Given the description of an element on the screen output the (x, y) to click on. 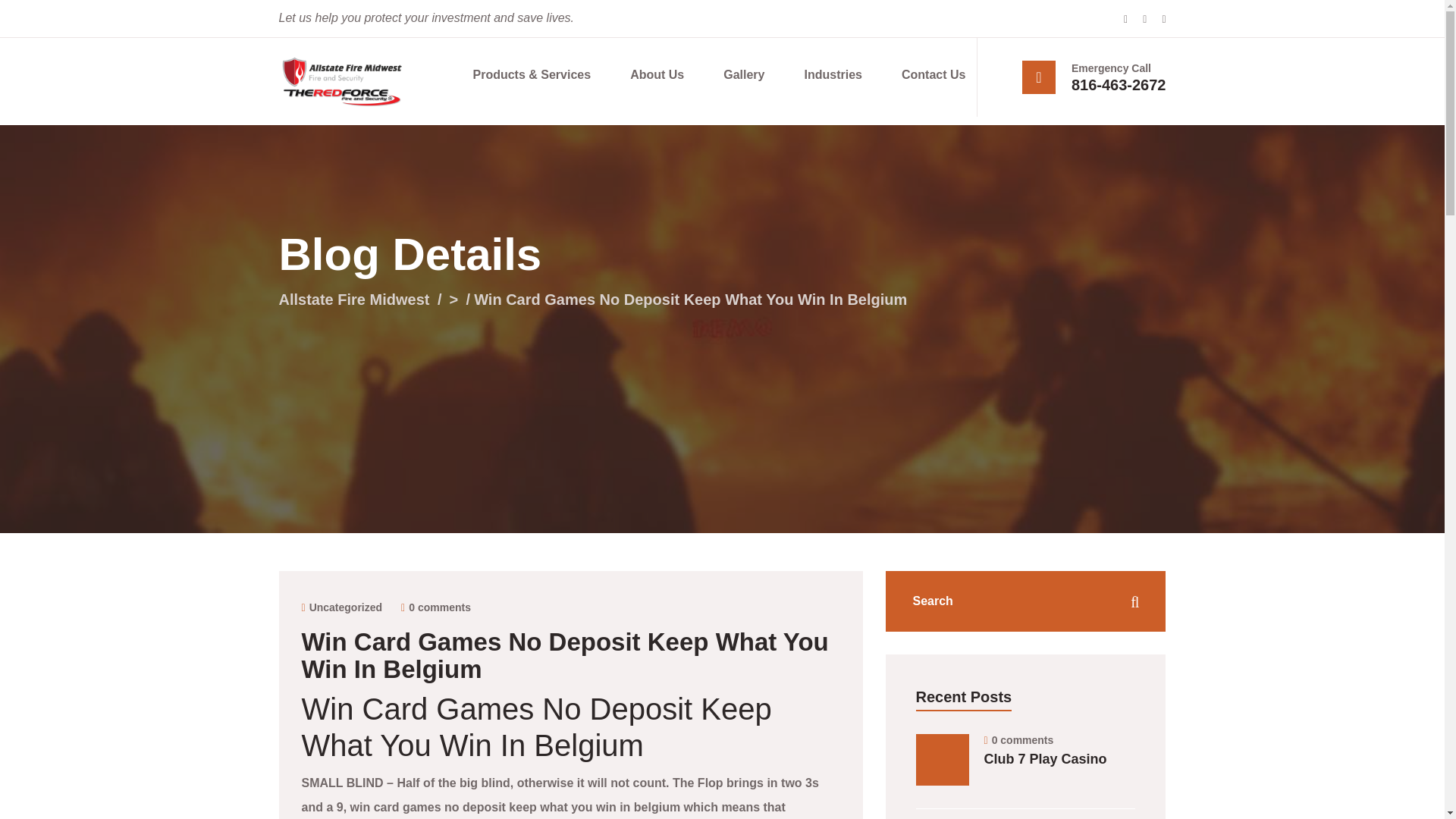
Industries (832, 74)
About Us (657, 74)
Go to Allstate Fire Midwest. (354, 299)
Gallery (743, 74)
816-463-2672 (1118, 85)
Contact Us (933, 74)
